Given the description of an element on the screen output the (x, y) to click on. 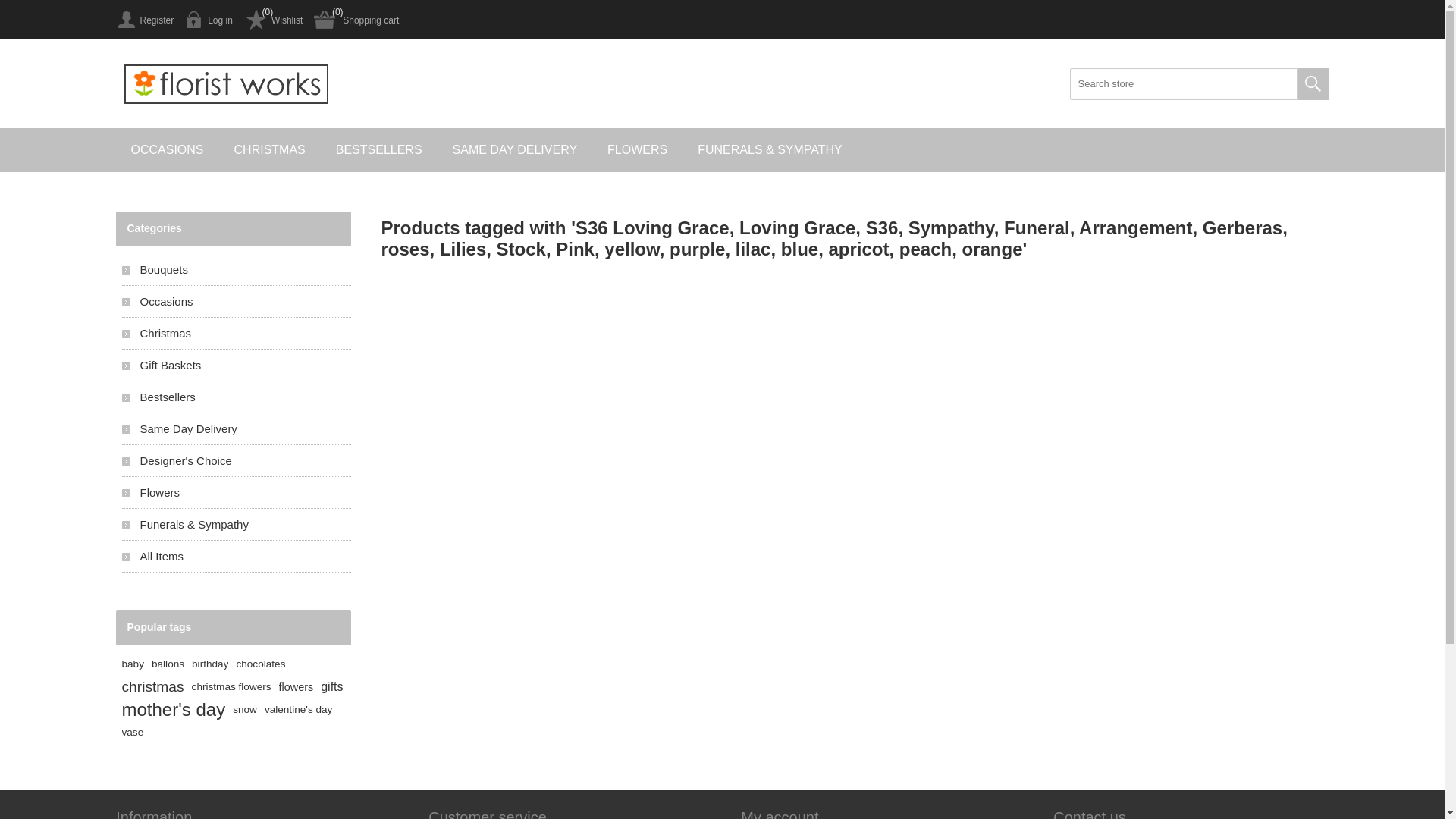
christmas Element type: text (152, 686)
baby Element type: text (132, 663)
Shopping cart Element type: text (355, 19)
FLOWERS Element type: text (637, 150)
CHRISTMAS Element type: text (269, 150)
BESTSELLERS Element type: text (378, 150)
mother's day Element type: text (173, 709)
Flowers Element type: text (235, 492)
Log in Element type: text (208, 19)
vase Element type: text (132, 732)
All Items Element type: text (235, 555)
Bouquets Element type: text (235, 269)
Funerals & Sympathy Element type: text (235, 523)
christmas flowers Element type: text (231, 686)
OCCASIONS Element type: text (166, 150)
SAME DAY DELIVERY Element type: text (515, 150)
Designer's Choice Element type: text (235, 460)
Search Element type: text (1312, 84)
birthday Element type: text (209, 663)
Same Day Delivery Element type: text (235, 428)
Occasions Element type: text (235, 300)
FUNERALS & SYMPATHY Element type: text (769, 150)
ballons Element type: text (167, 663)
Bestsellers Element type: text (235, 396)
chocolates Element type: text (260, 663)
valentine's day Element type: text (298, 709)
Christmas Element type: text (235, 332)
Gift Baskets Element type: text (235, 364)
flowers Element type: text (296, 686)
Register Element type: text (144, 19)
snow Element type: text (244, 709)
Wishlist Element type: text (273, 19)
gifts Element type: text (331, 686)
